Given the description of an element on the screen output the (x, y) to click on. 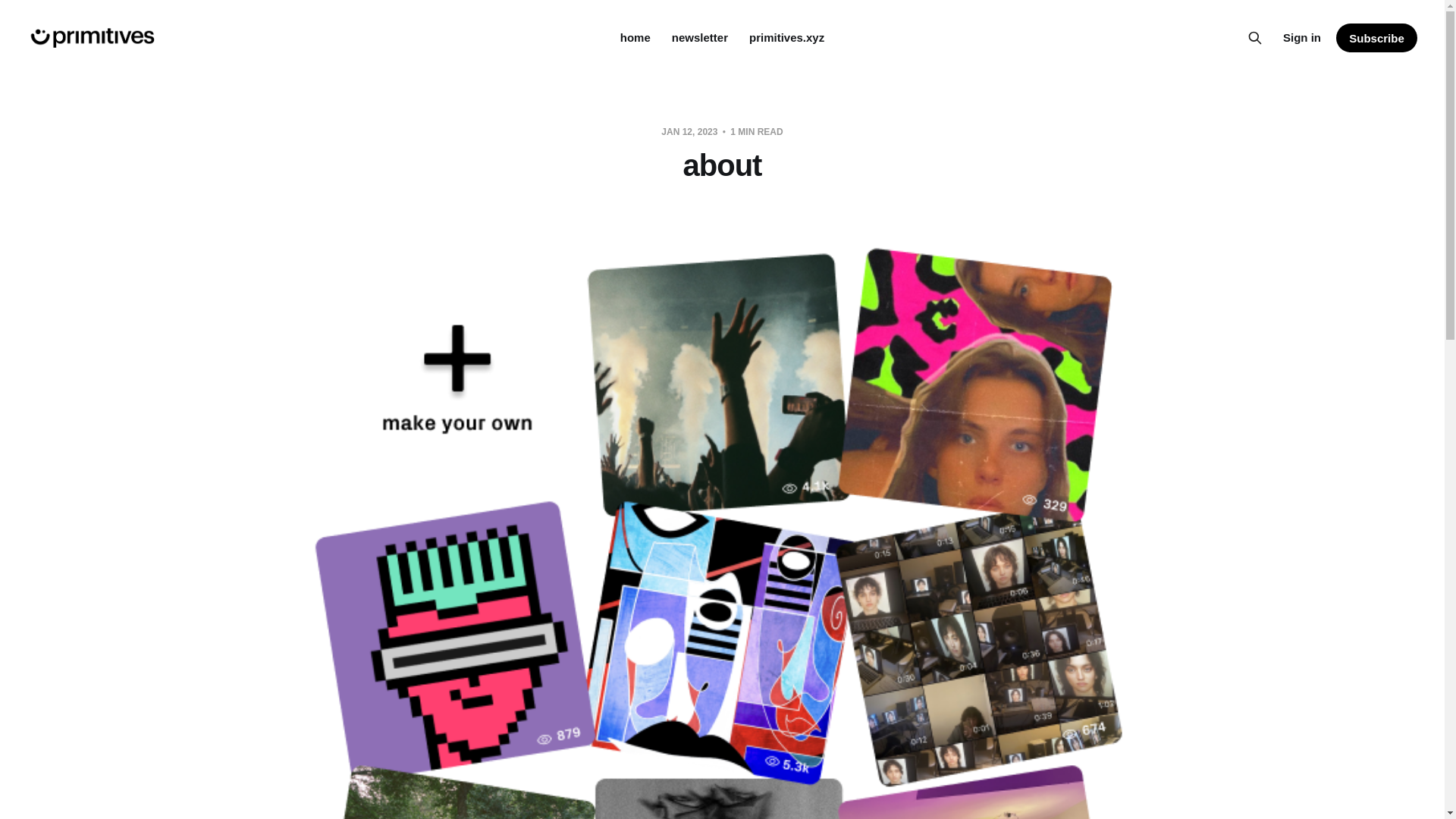
home (635, 37)
newsletter (699, 37)
primitives.xyz (786, 37)
Sign in (1301, 37)
Subscribe (1376, 37)
